Given the description of an element on the screen output the (x, y) to click on. 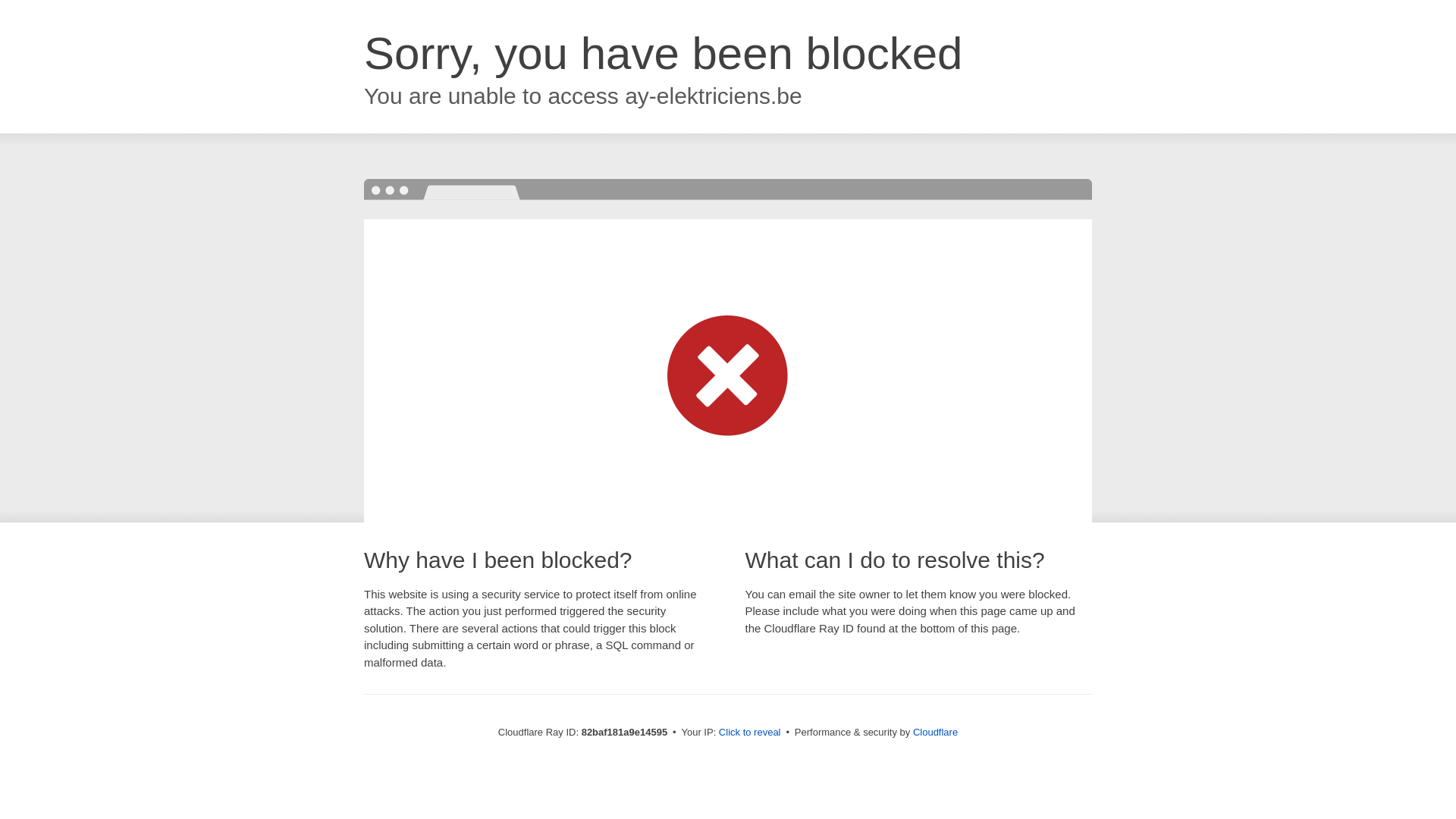
Click to reveal Element type: text (749, 732)
Cloudflare Element type: text (935, 731)
